Given the description of an element on the screen output the (x, y) to click on. 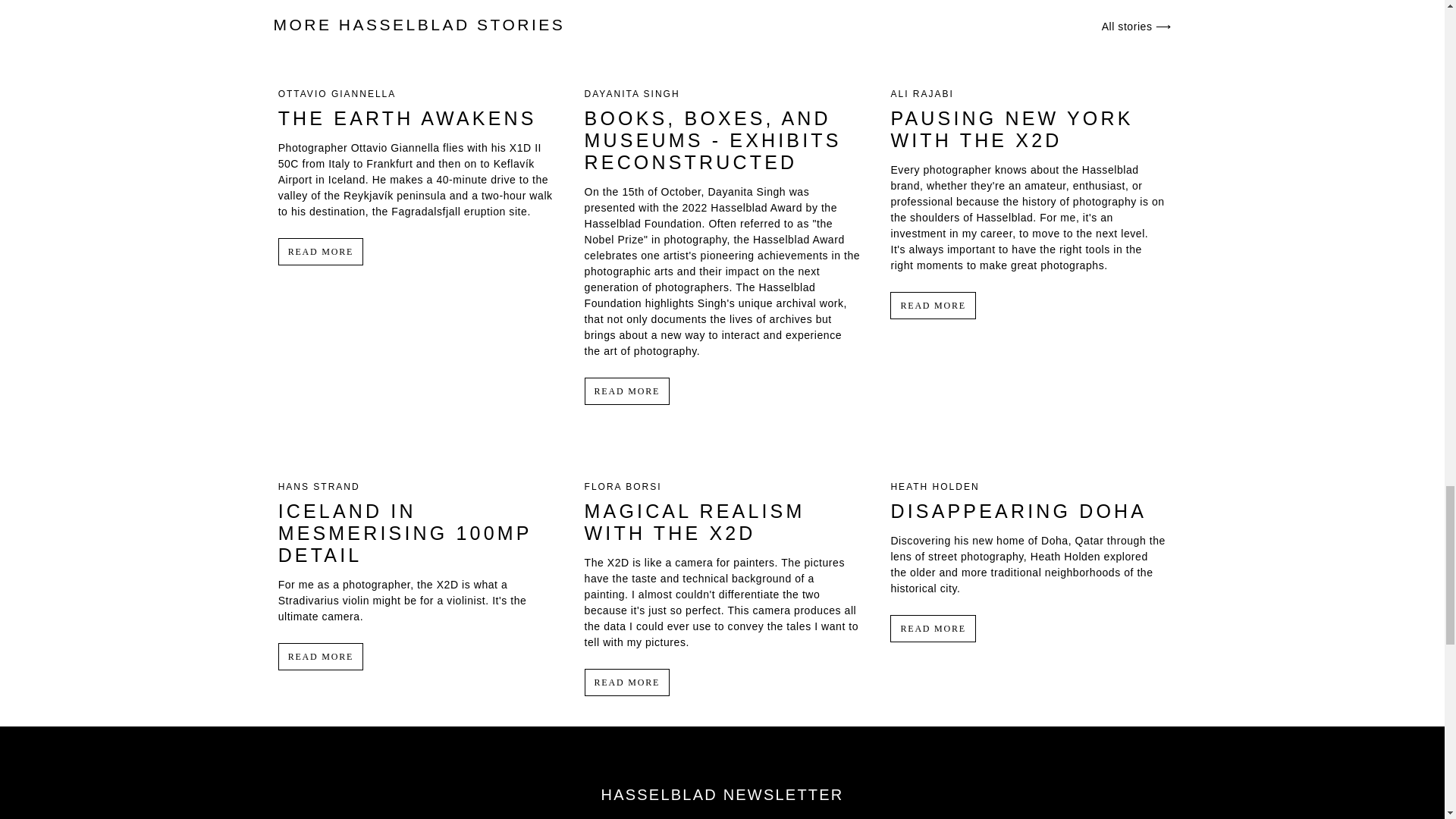
READ MORE (932, 627)
READ MORE (627, 682)
READ MORE (932, 304)
READ MORE (321, 251)
READ MORE (627, 390)
READ MORE (321, 656)
